Given the description of an element on the screen output the (x, y) to click on. 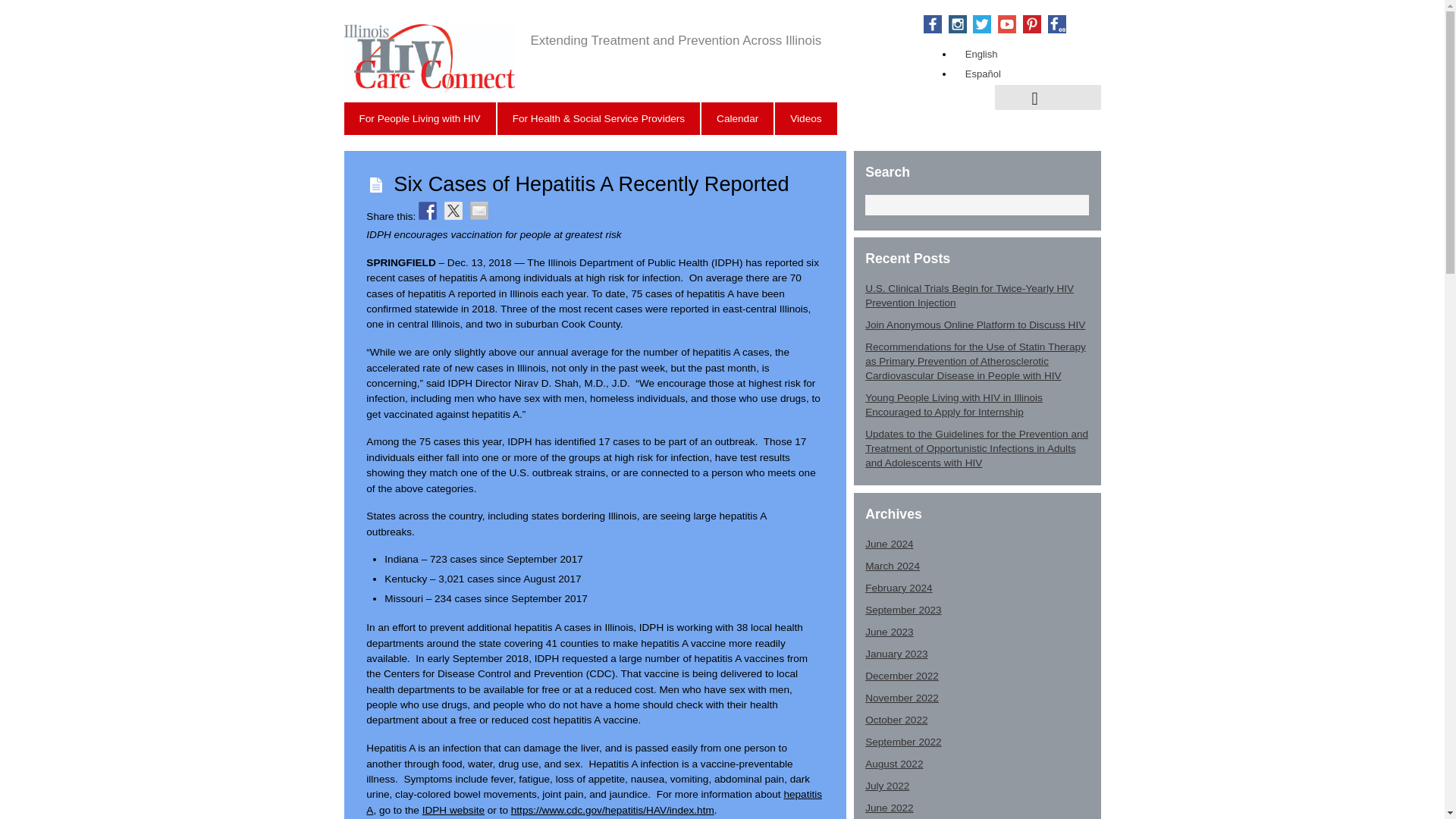
Search (976, 204)
Videos (804, 118)
Share on Twitter (453, 210)
For People Living with HIV (419, 118)
Calendar (737, 118)
Share by email (478, 210)
HIVCareLinklogo (429, 59)
HIV Care Connect (429, 84)
Share on Facebook (427, 210)
